Given the description of an element on the screen output the (x, y) to click on. 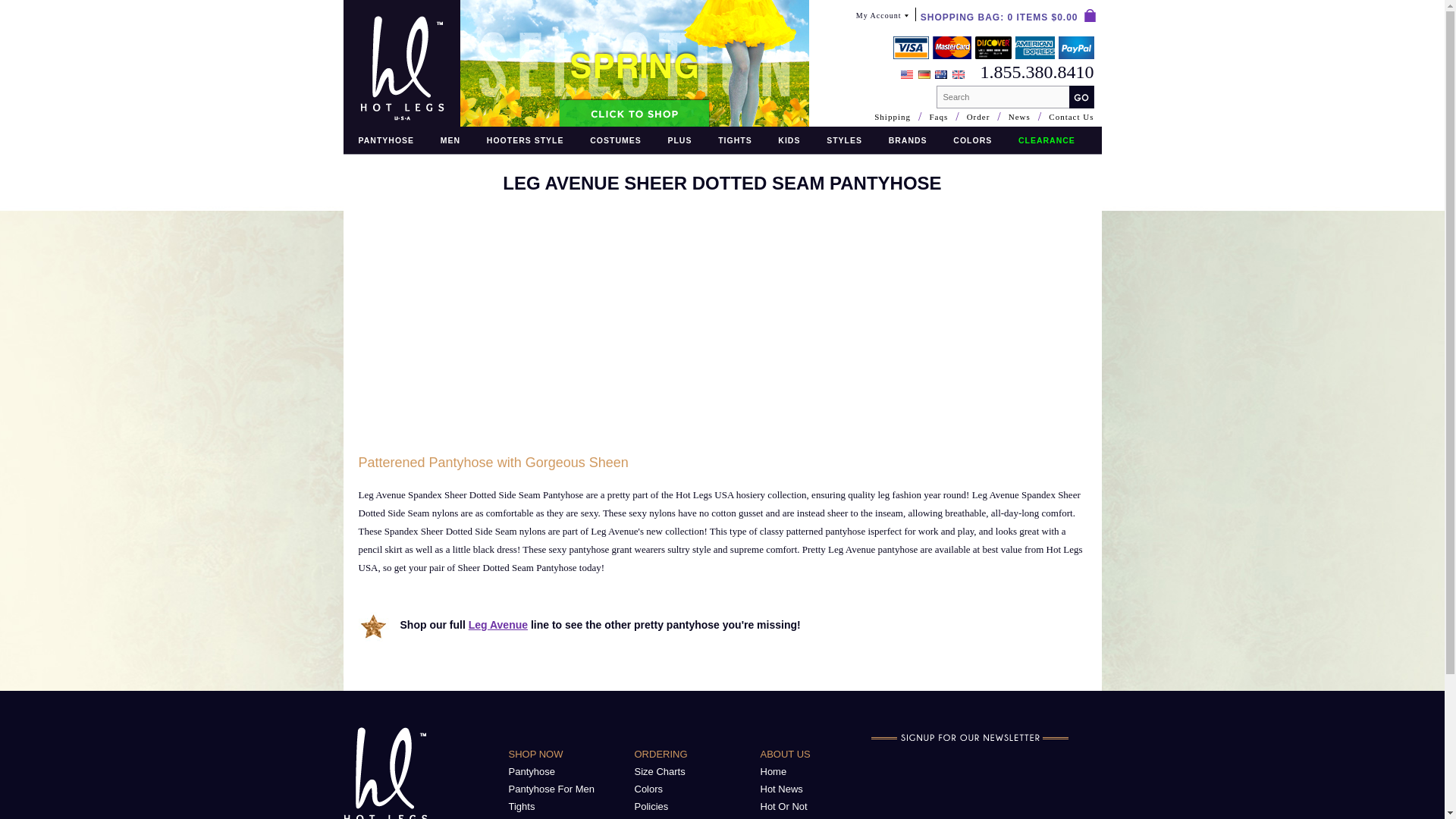
Buy pantyhose from Peavey, Leg Avenue, Tamara, Jockey online (385, 139)
Buy pantyhose online with MasterCard Credit Card (952, 47)
Order (978, 116)
Pantyhose shipping policy (993, 54)
Buy pantyhose online with VISA Credit Card (910, 47)
Contact Us (1070, 116)
My Account (882, 19)
